Given the description of an element on the screen output the (x, y) to click on. 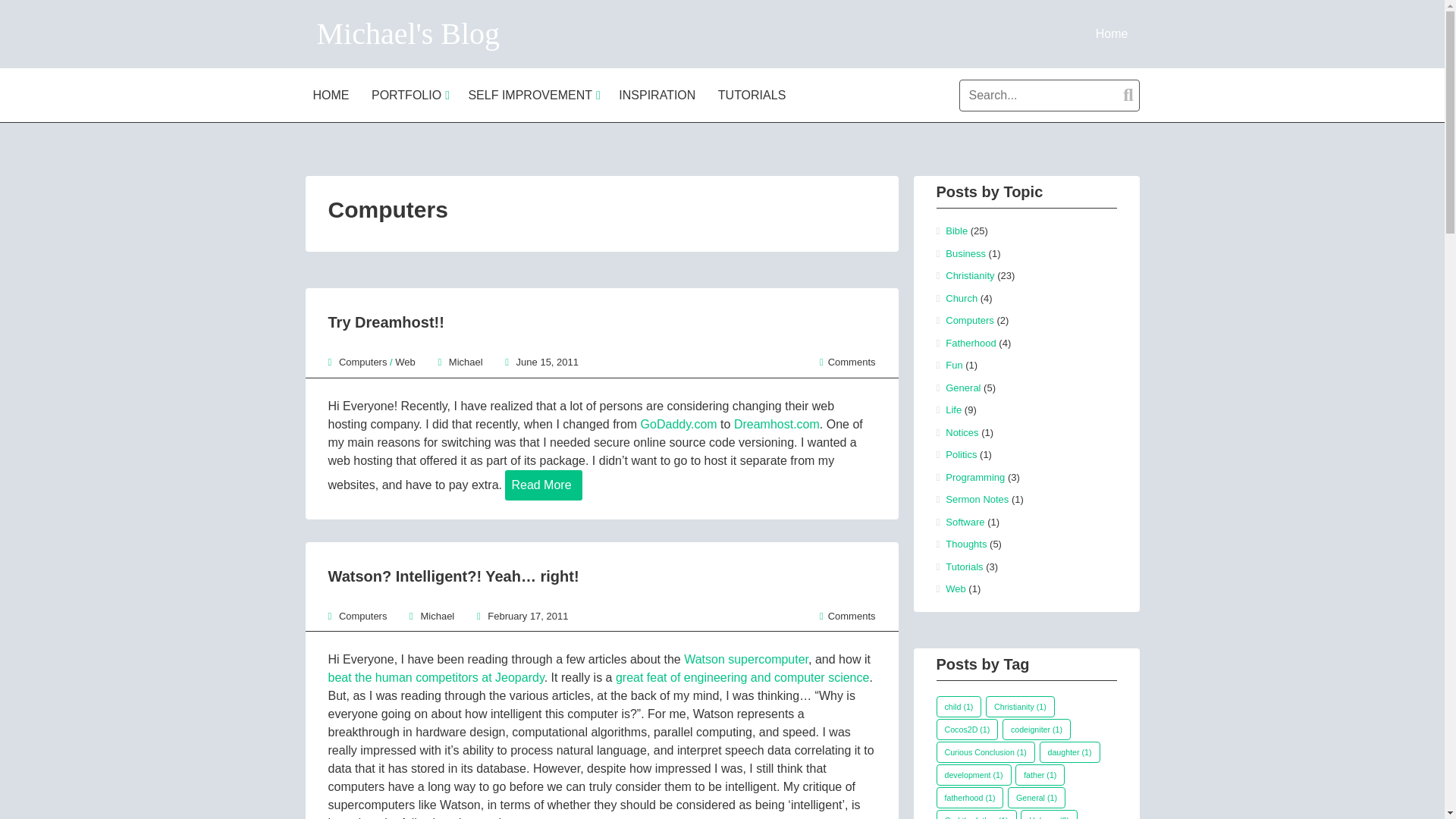
Christianity (969, 275)
Michael's Blog (408, 33)
Life (952, 409)
General (961, 387)
Computers (969, 319)
HOME (331, 94)
Web (404, 361)
Church (960, 297)
The lessons of my journey in life can be found here... (1112, 33)
